Given the description of an element on the screen output the (x, y) to click on. 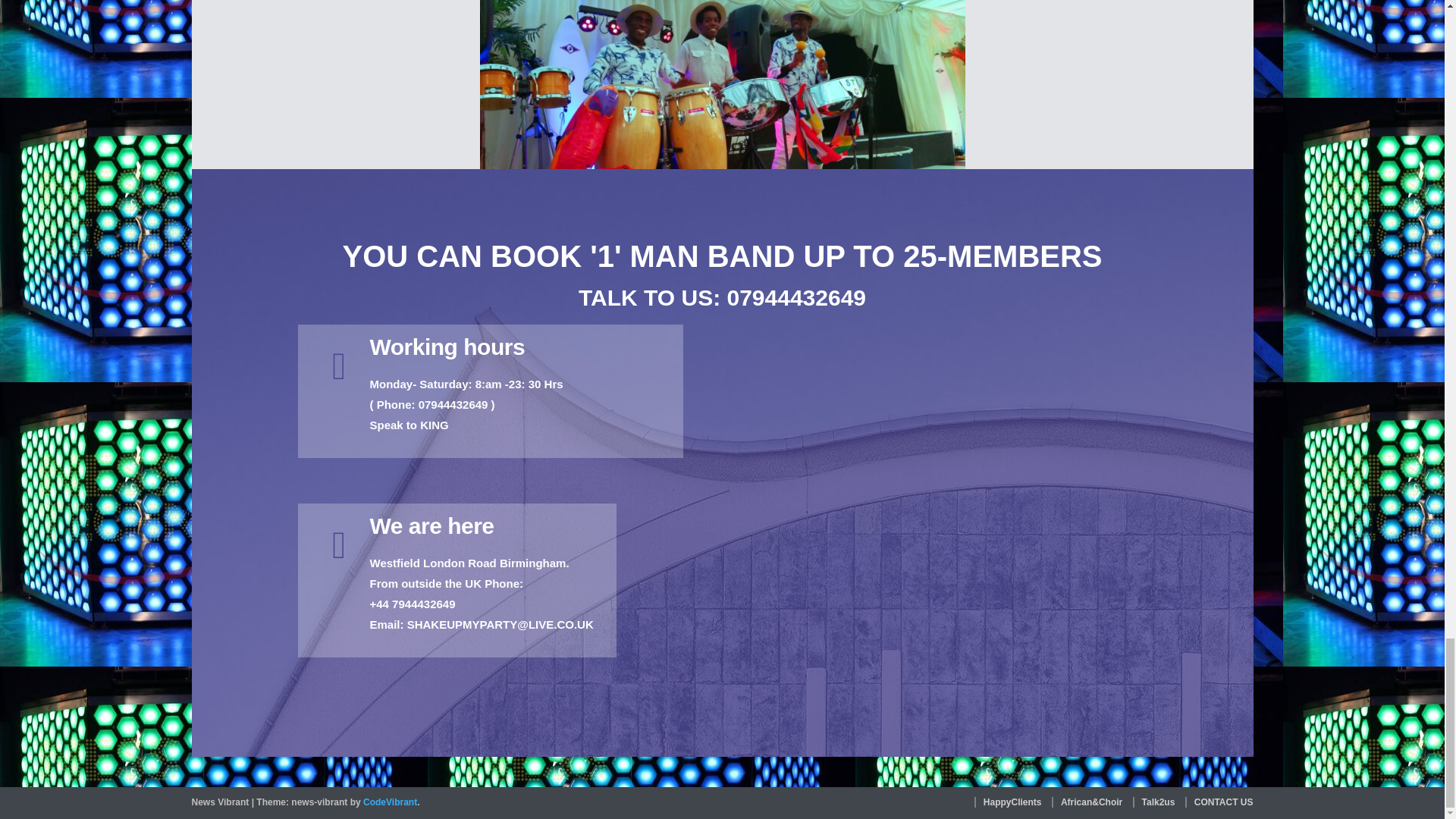
Birmingham UK, London N (768, 491)
HappyClients (1008, 801)
CodeVibrant (389, 801)
